Given the description of an element on the screen output the (x, y) to click on. 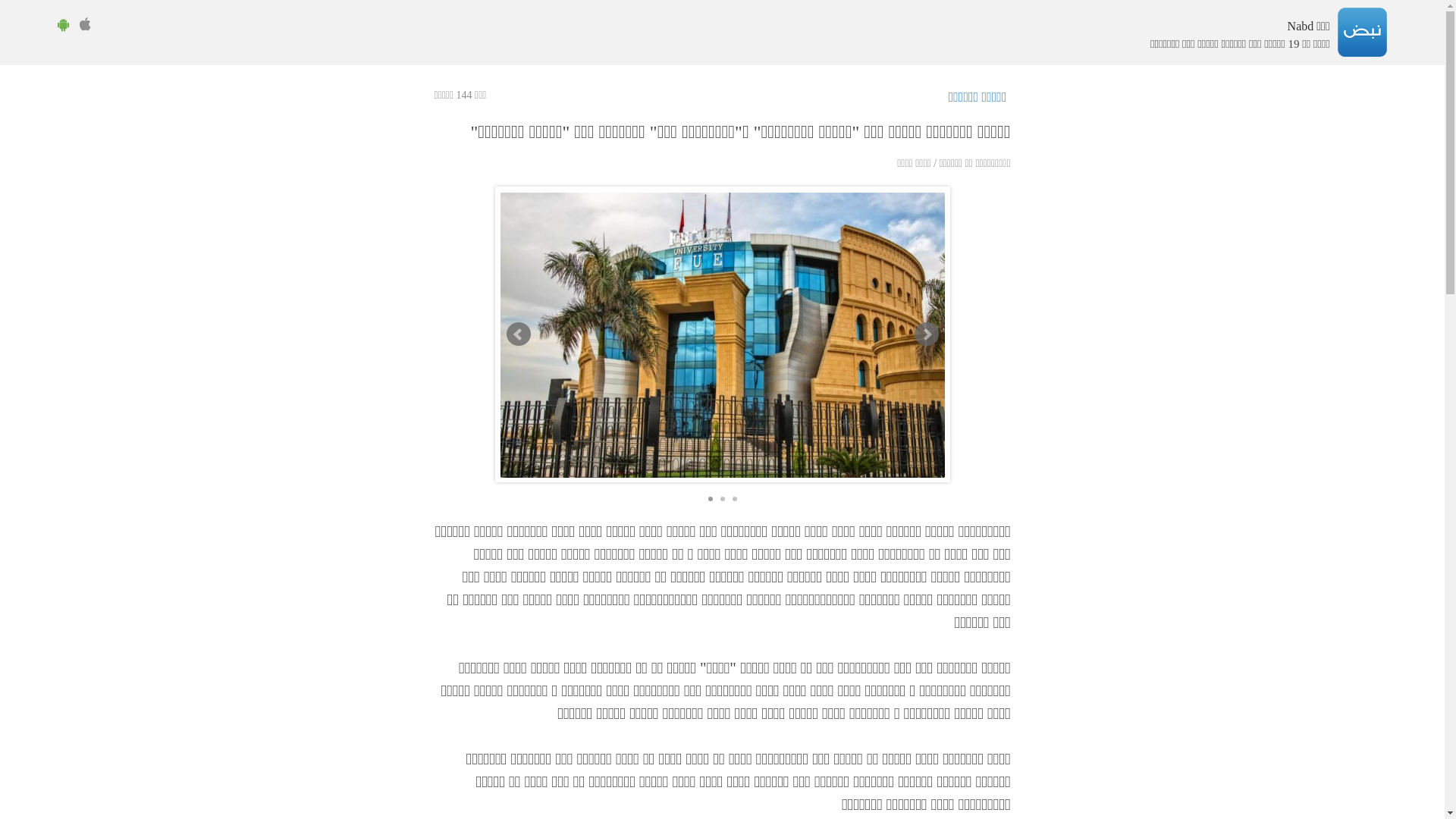
3 Element type: text (734, 498)
2 Element type: text (722, 498)
1 Element type: text (710, 498)
Prev Element type: text (518, 334)
Next Element type: text (926, 334)
